Given the description of an element on the screen output the (x, y) to click on. 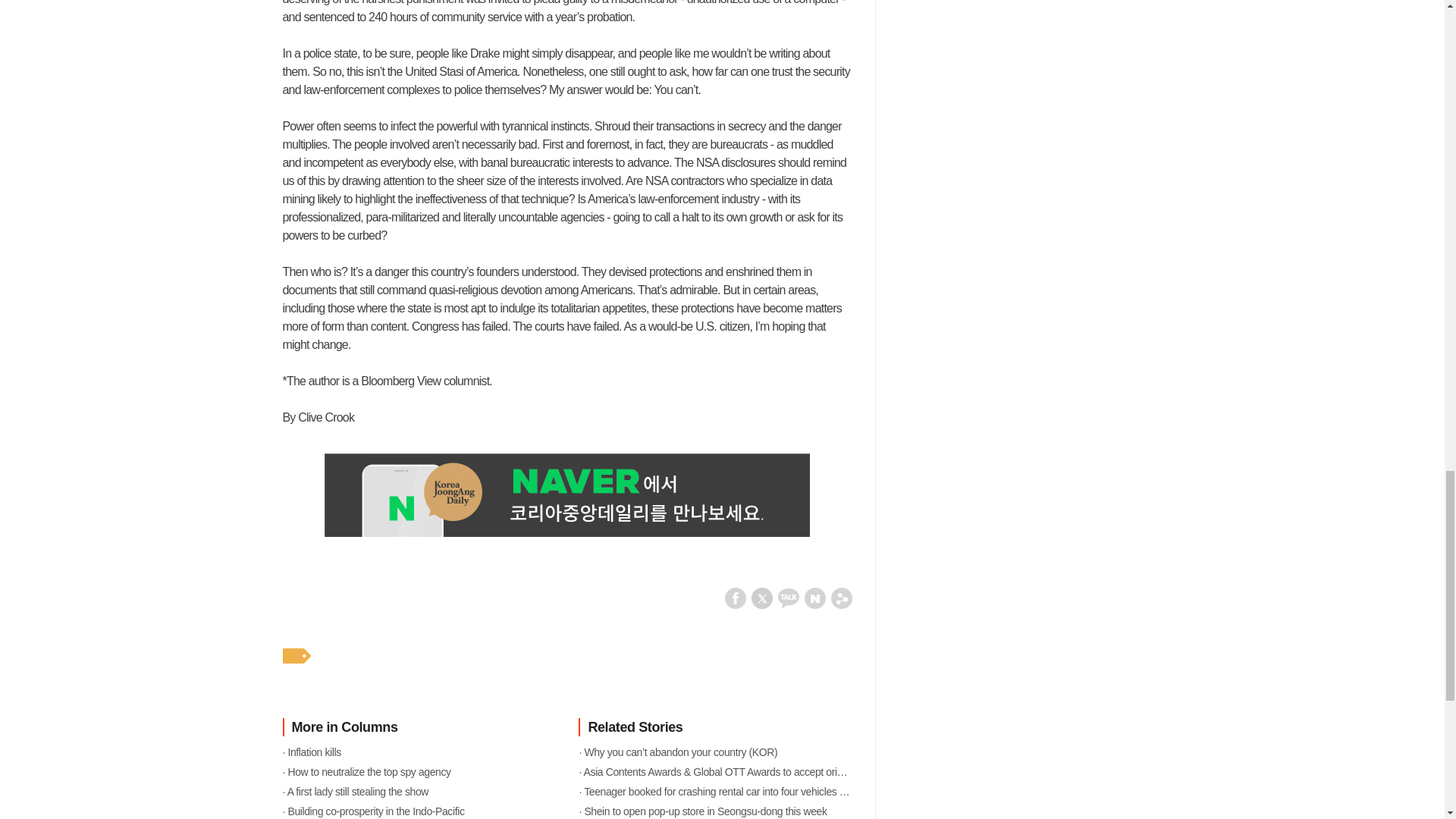
Building co-prosperity in the Indo-Pacific (419, 809)
Shein to open pop-up store in Seongsu-dong this week (714, 809)
How to neutralize the top spy agency (419, 771)
Copy URL To Clipboard (841, 596)
Share to Twitter New Window (762, 596)
Share to Facebook New Window (735, 596)
Share to Naver Blog New Window (815, 596)
Share to KakaoTalk New Window (788, 596)
Inflation kills (419, 751)
A first lady still stealing the show (419, 790)
